Given the description of an element on the screen output the (x, y) to click on. 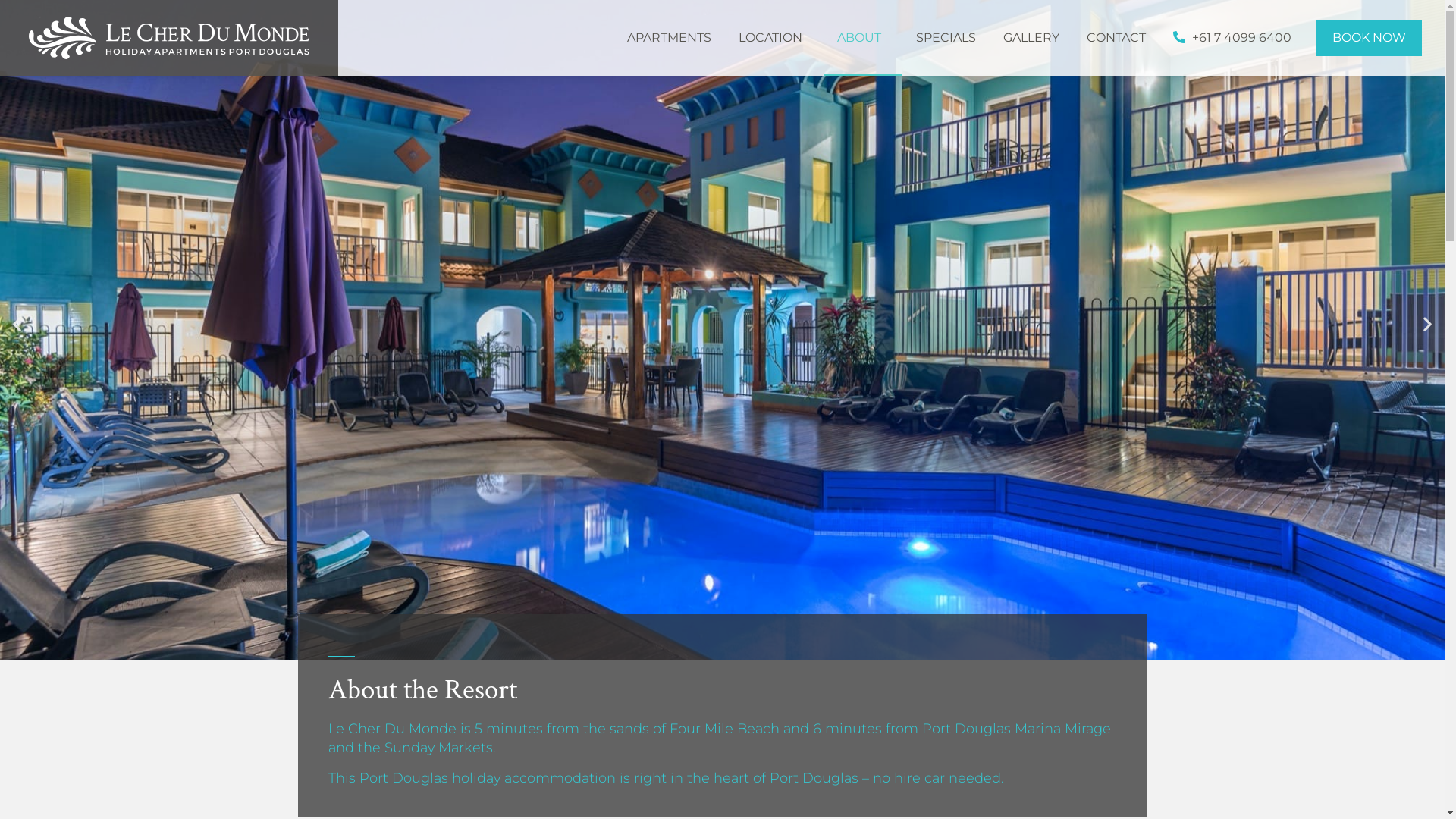
ABOUT Element type: text (862, 37)
BOOK NOW Element type: text (1368, 37)
APARTMENTS Element type: text (668, 37)
SPECIALS Element type: text (945, 37)
GALLERY Element type: text (1031, 37)
LOCATION Element type: text (773, 37)
CONTACT Element type: text (1116, 37)
+61 7 4099 6400 Element type: text (1232, 37)
